Given the description of an element on the screen output the (x, y) to click on. 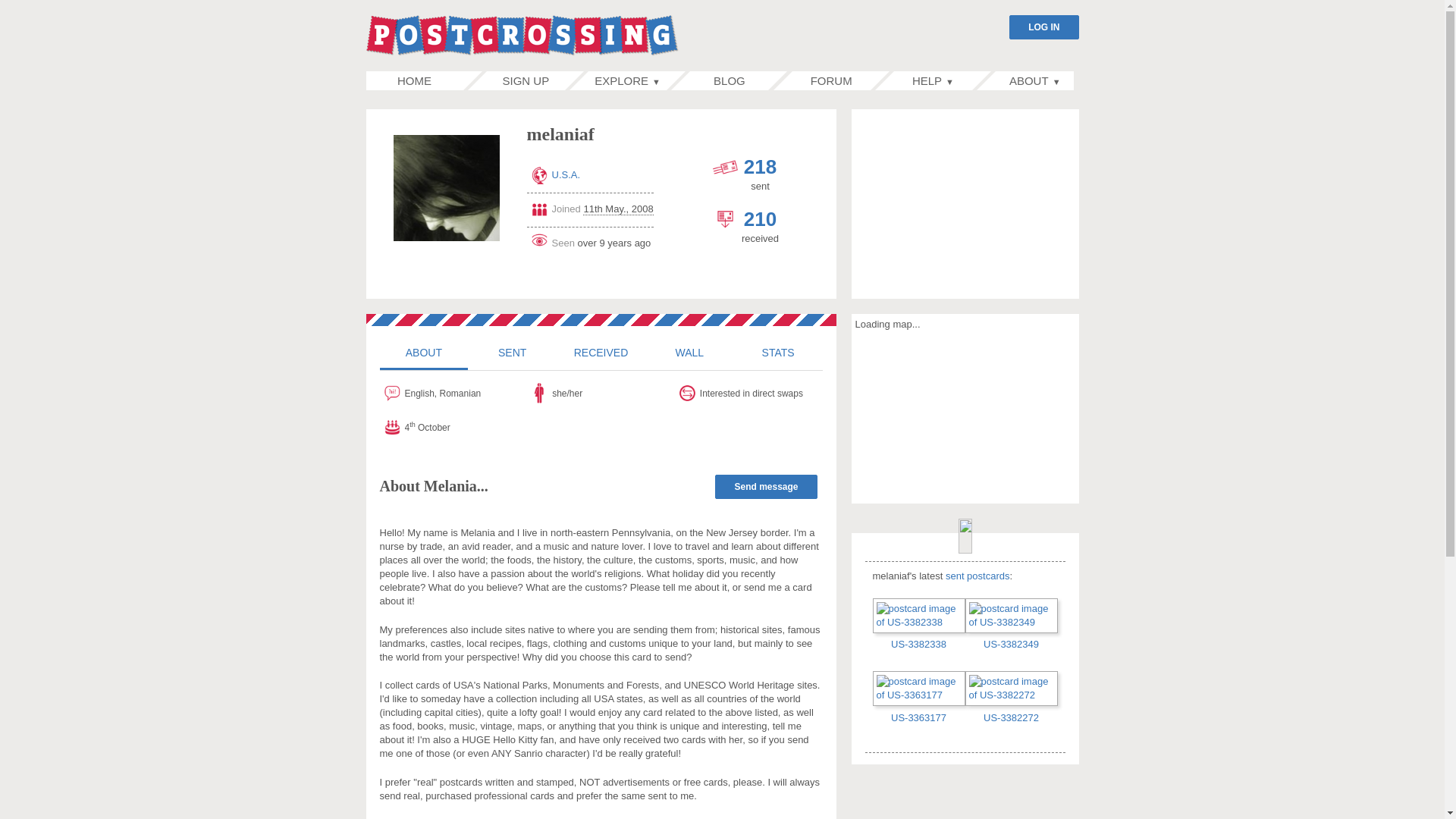
WALL (689, 352)
STATS (777, 352)
BLOG (729, 80)
Birthday (452, 426)
Postcard US-3382338 (917, 614)
Postcrossing (521, 35)
melaniaf's received postcards (600, 352)
SENT (511, 352)
Speaks (452, 392)
Gender pronouns (601, 392)
